Given the description of an element on the screen output the (x, y) to click on. 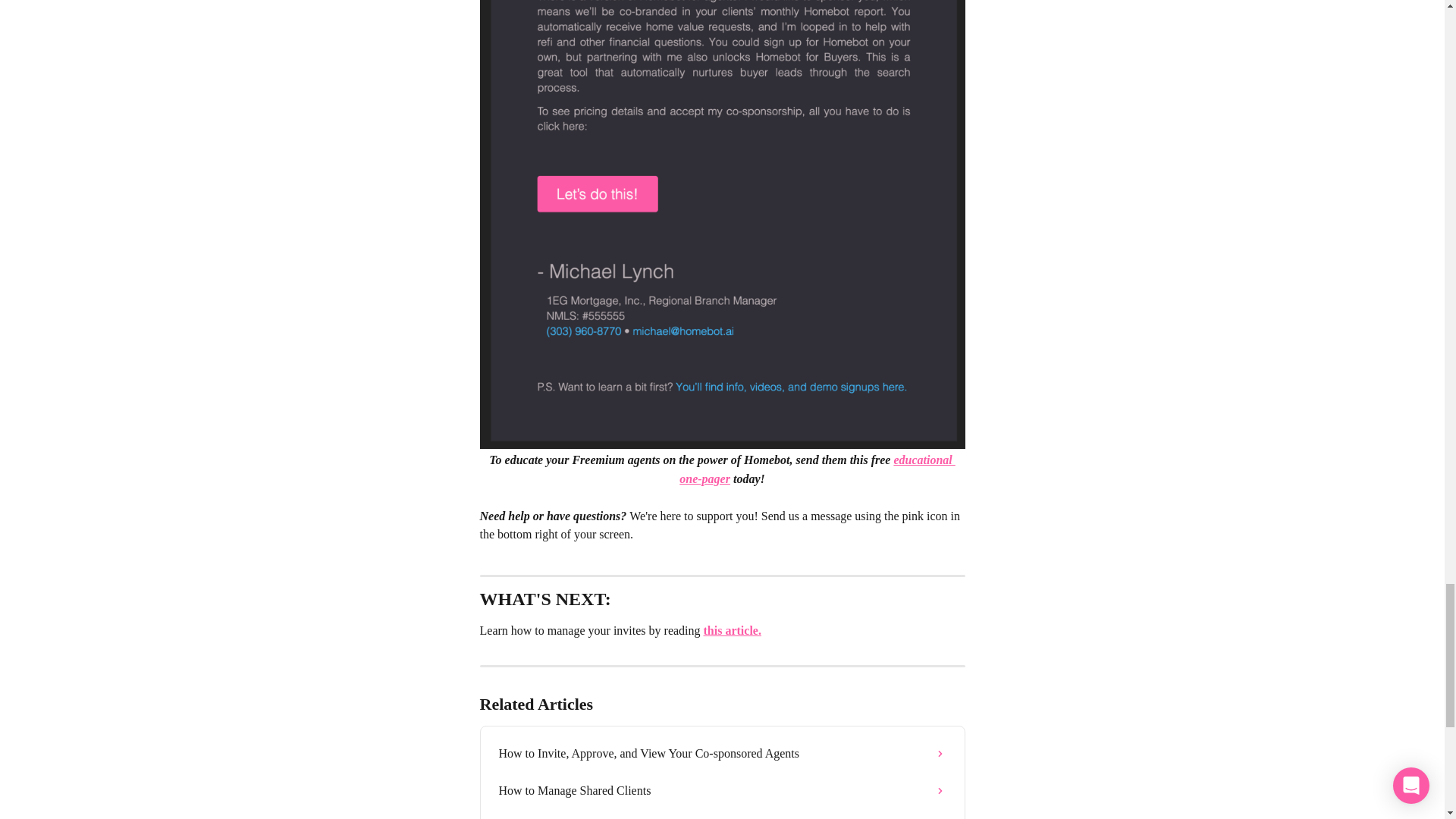
How to Invite, Approve, and View Your Co-sponsored Agents (722, 753)
How much is the Lender Co-sponsor Fee? (722, 814)
educational one-pager (817, 468)
this article. (732, 630)
How to Manage Shared Clients (722, 791)
